Given the description of an element on the screen output the (x, y) to click on. 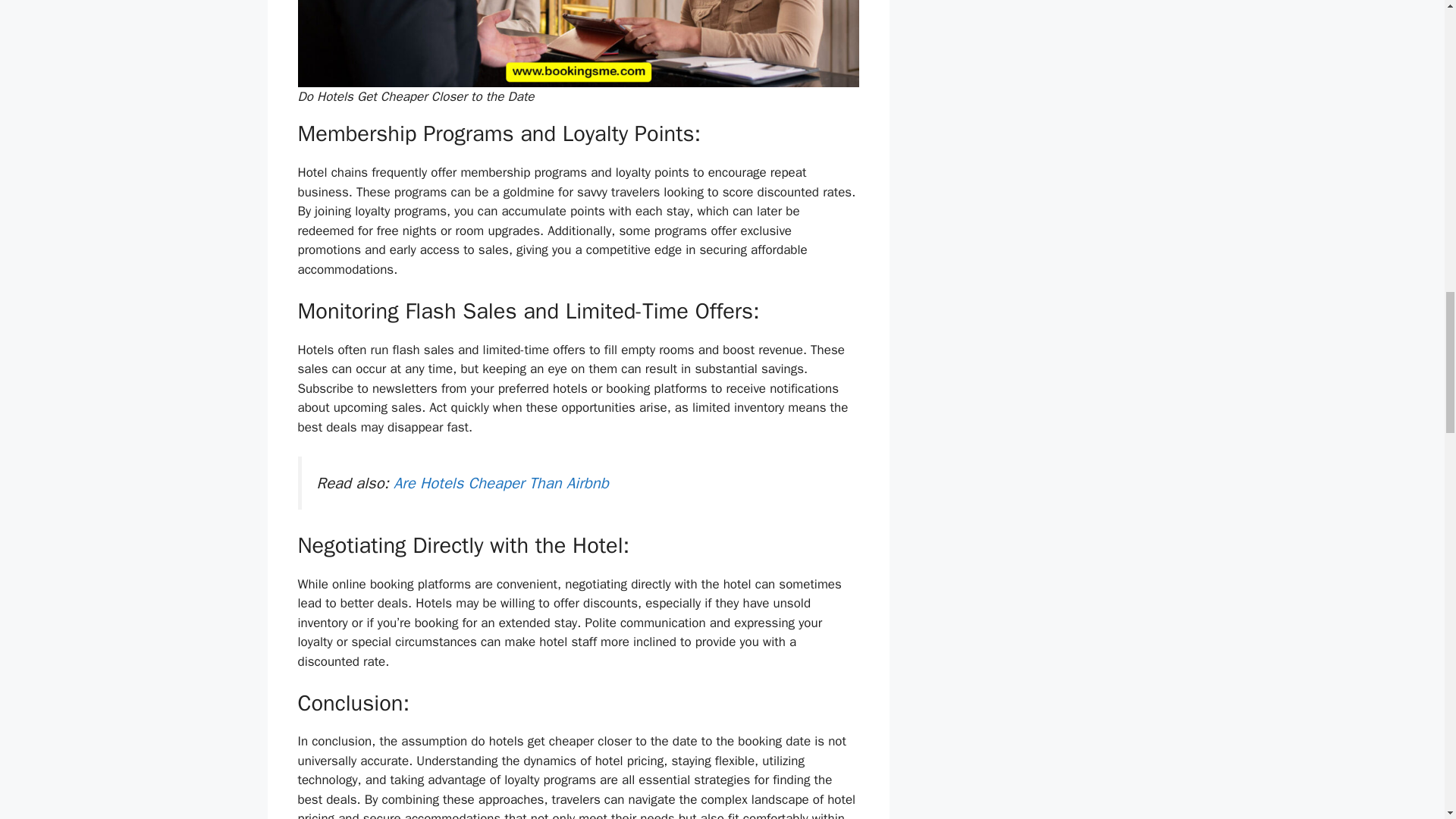
Are Hotels Cheaper Than Airbnb (500, 483)
